Given the description of an element on the screen output the (x, y) to click on. 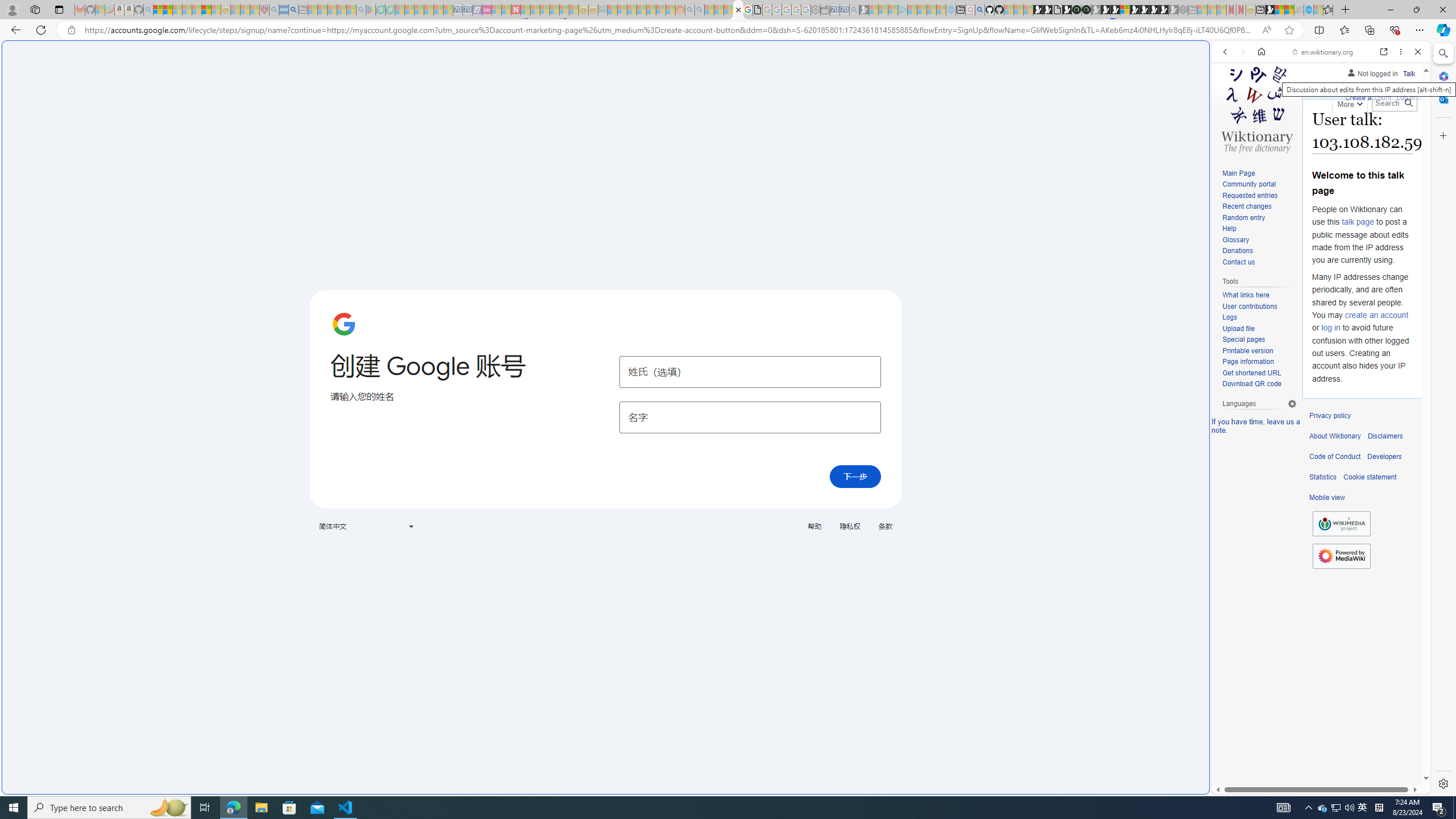
Settings - Sleeping (815, 9)
Mobile view (1326, 497)
Code of Conduct (1334, 456)
talk page (1357, 221)
Disclaimers (1385, 436)
